Given the description of an element on the screen output the (x, y) to click on. 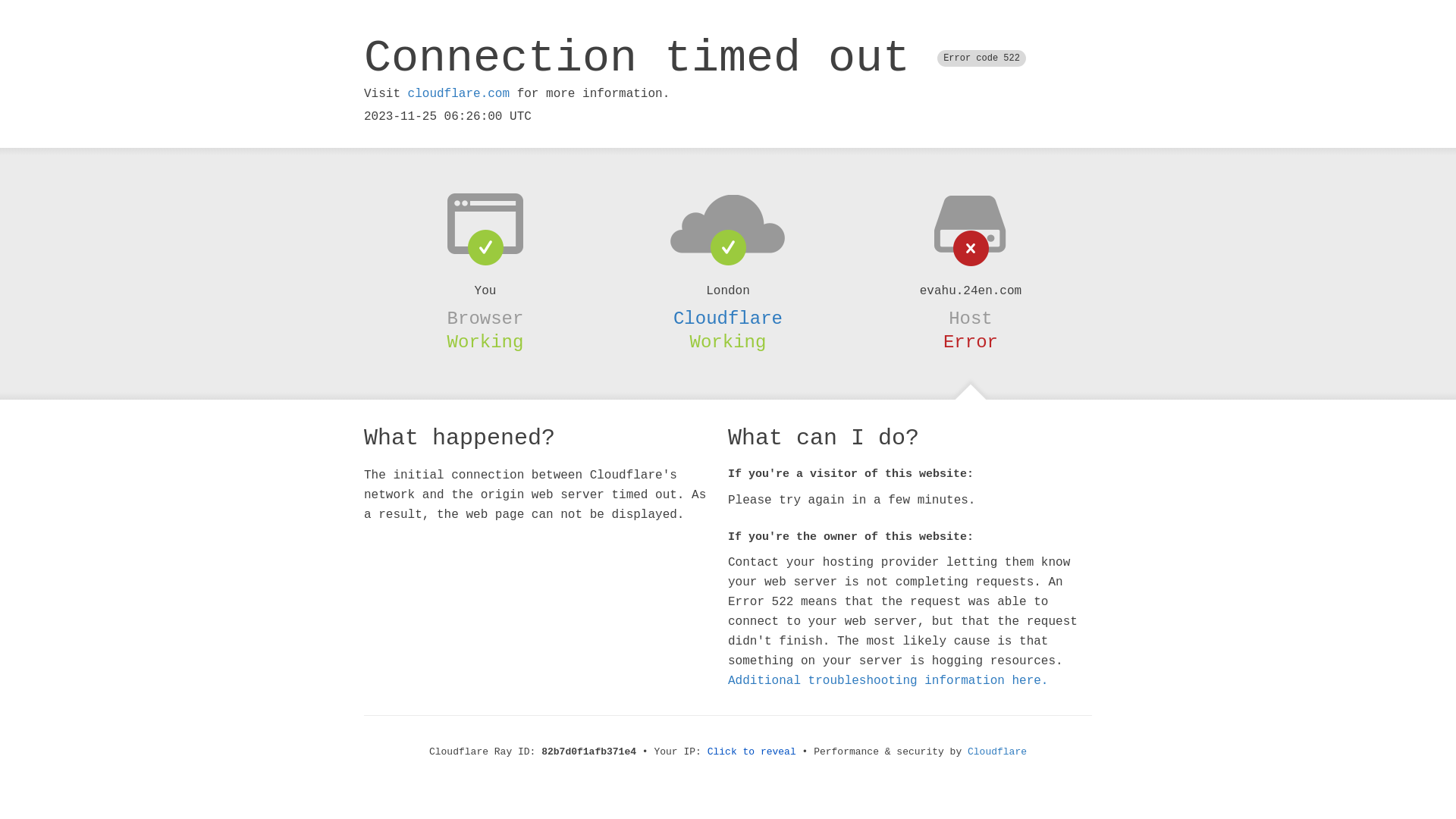
Additional troubleshooting information here. Element type: text (888, 680)
Cloudflare Element type: text (996, 751)
Cloudflare Element type: text (727, 318)
cloudflare.com Element type: text (458, 93)
Click to reveal Element type: text (751, 751)
